Given the description of an element on the screen output the (x, y) to click on. 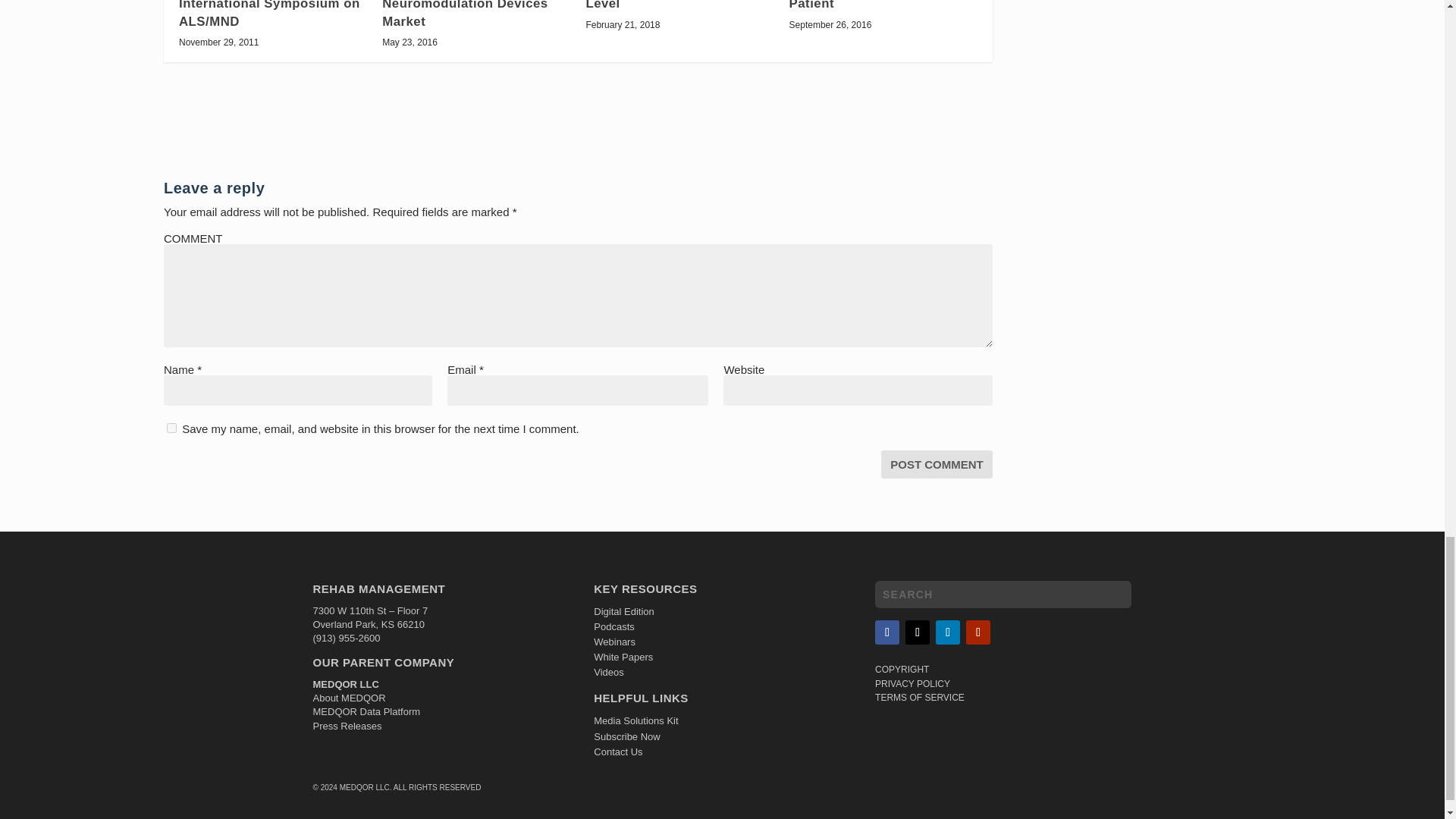
Follow on X (917, 631)
yes (171, 428)
Post Comment (936, 464)
Follow on LinkedIn (947, 631)
Follow on Facebook (887, 631)
